Given the description of an element on the screen output the (x, y) to click on. 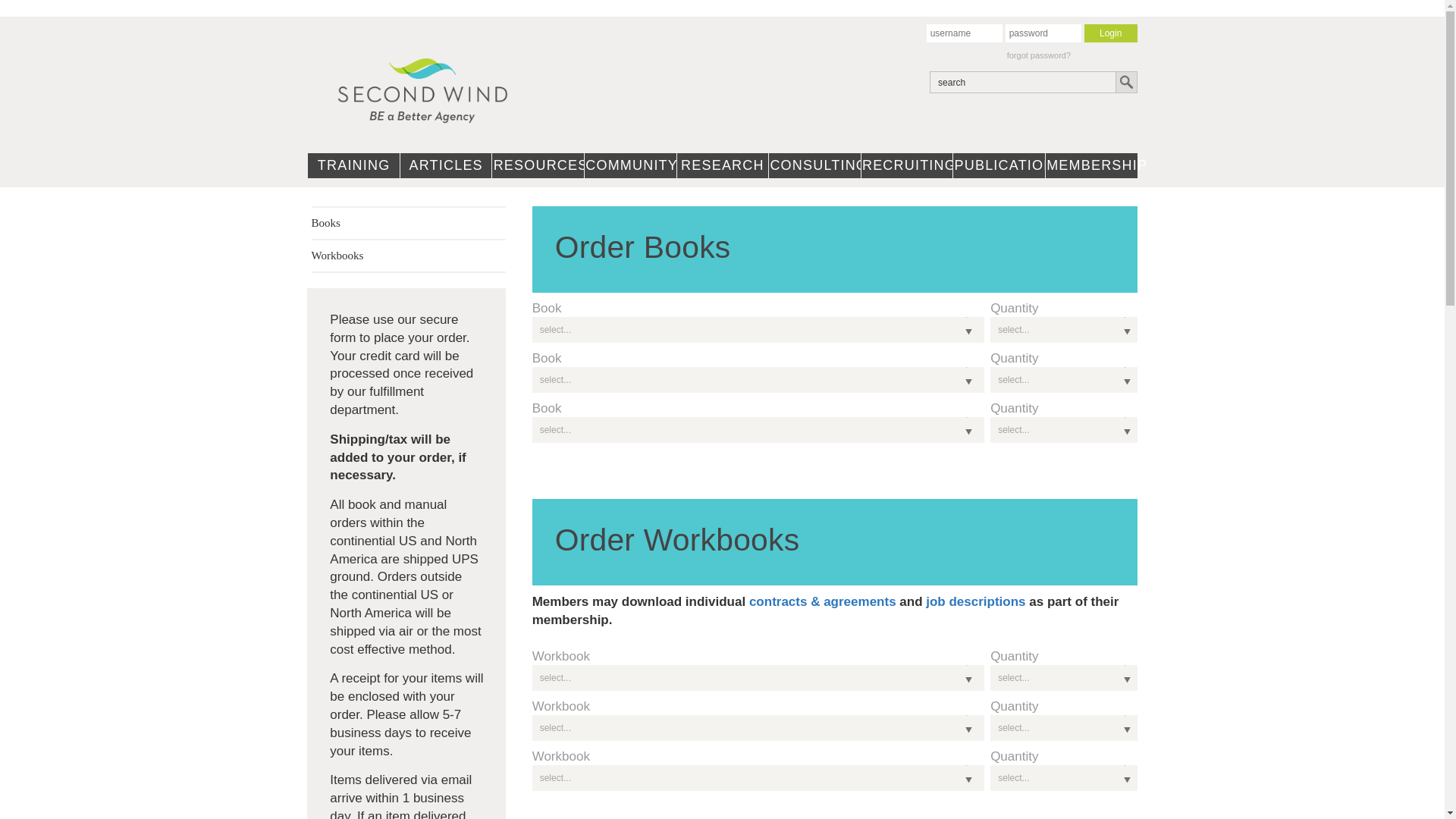
Search (1126, 82)
Search (1126, 82)
ARTICLES (446, 162)
forgot password? (1038, 54)
Login (1110, 33)
TRAINING (352, 162)
Login (1110, 33)
RESOURCES (537, 162)
